Given the description of an element on the screen output the (x, y) to click on. 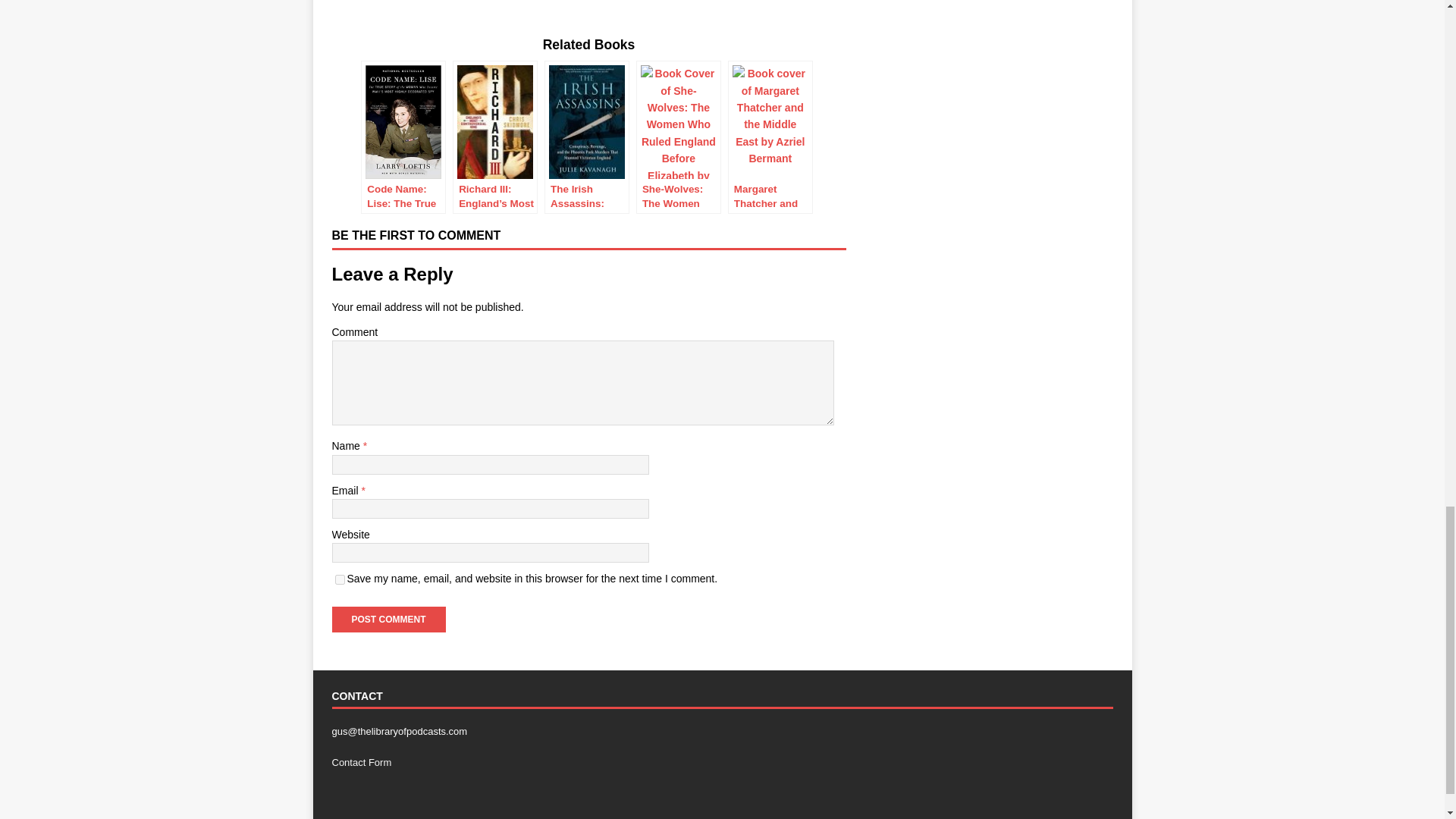
Post Comment (388, 619)
yes (339, 579)
